Given the description of an element on the screen output the (x, y) to click on. 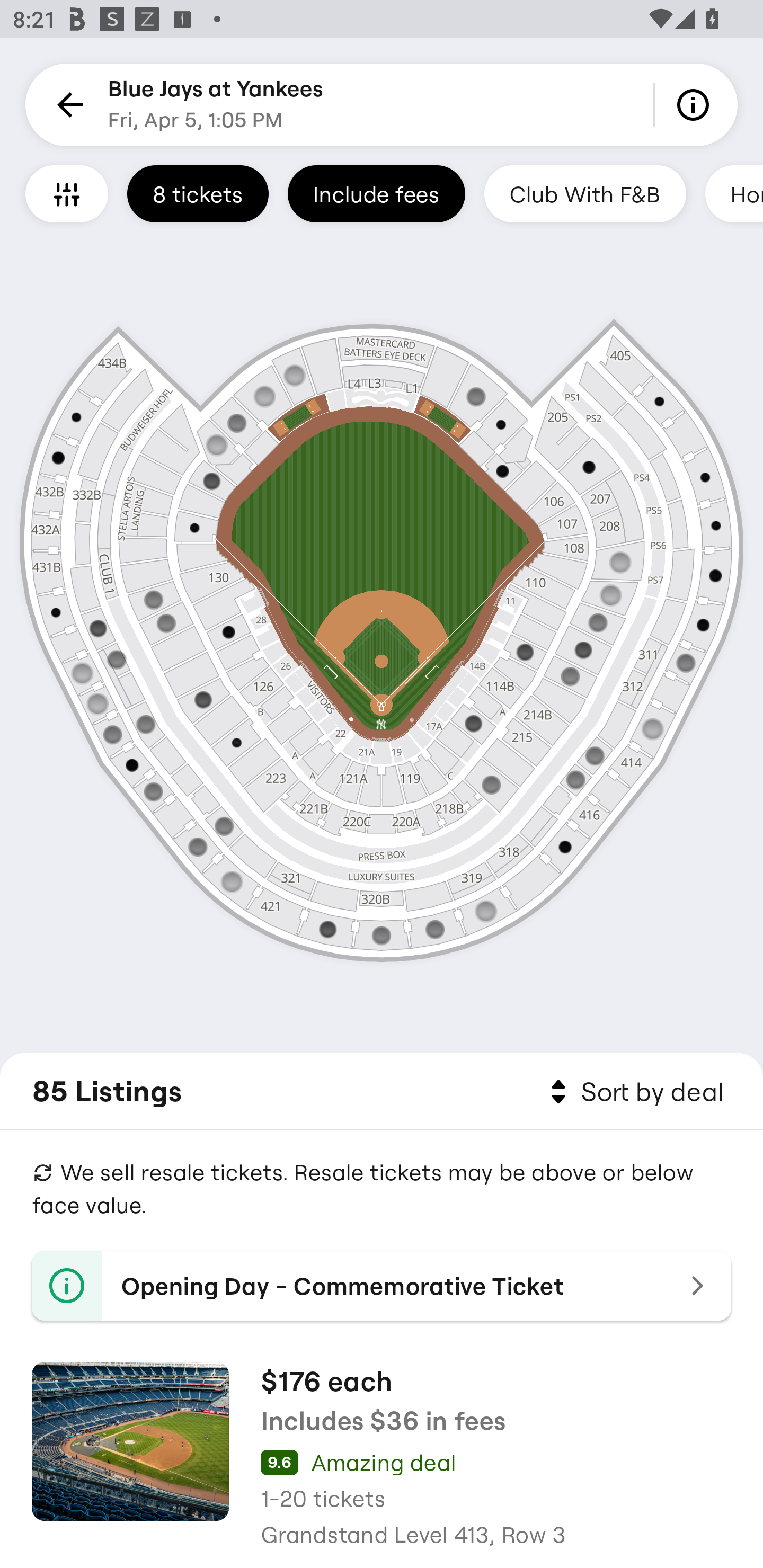
Back (66, 104)
Blue Jays at Yankees Fri, Apr 5, 1:05 PM (215, 104)
Info (695, 104)
Filters and Accessible Seating (66, 193)
8 tickets (197, 193)
Include fees (376, 193)
Club With F&B (584, 193)
Sort by deal (633, 1091)
Opening Day - Commemorative Ticket (381, 1285)
